Given the description of an element on the screen output the (x, y) to click on. 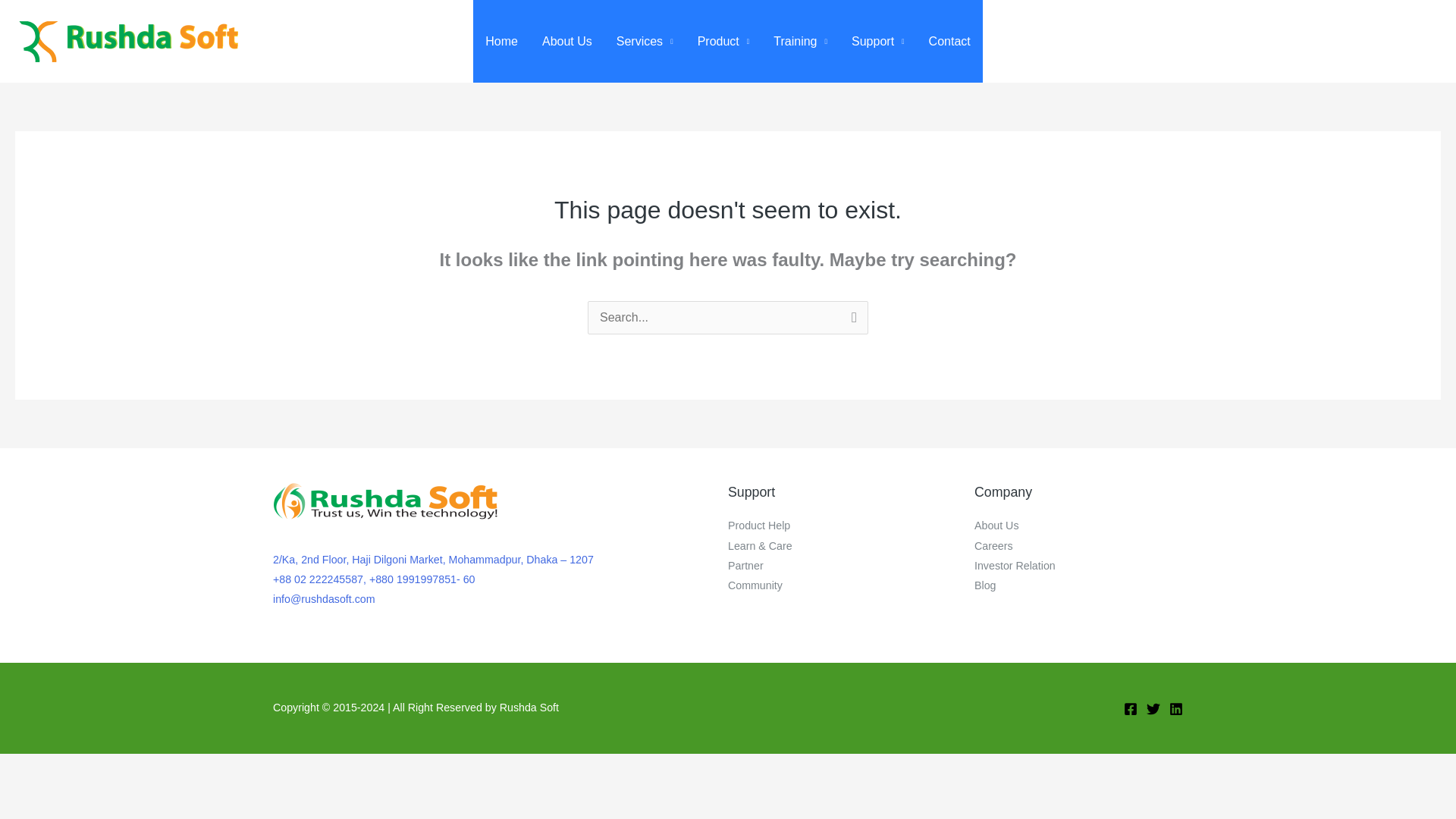
Support (878, 41)
Product (723, 41)
Services (644, 41)
Training (800, 41)
About Us (566, 41)
